Given the description of an element on the screen output the (x, y) to click on. 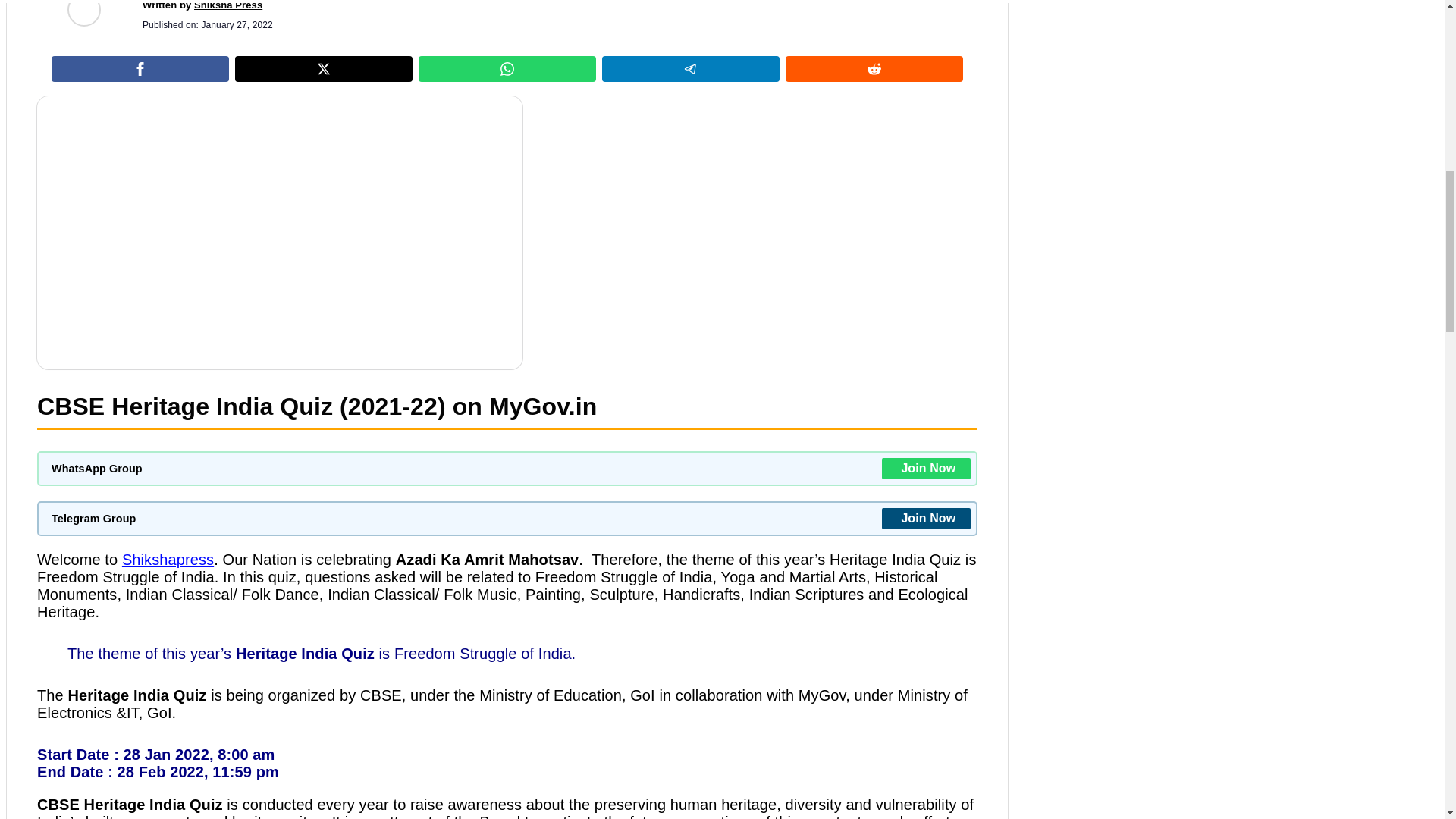
Shiksha Press (227, 5)
